Given the description of an element on the screen output the (x, y) to click on. 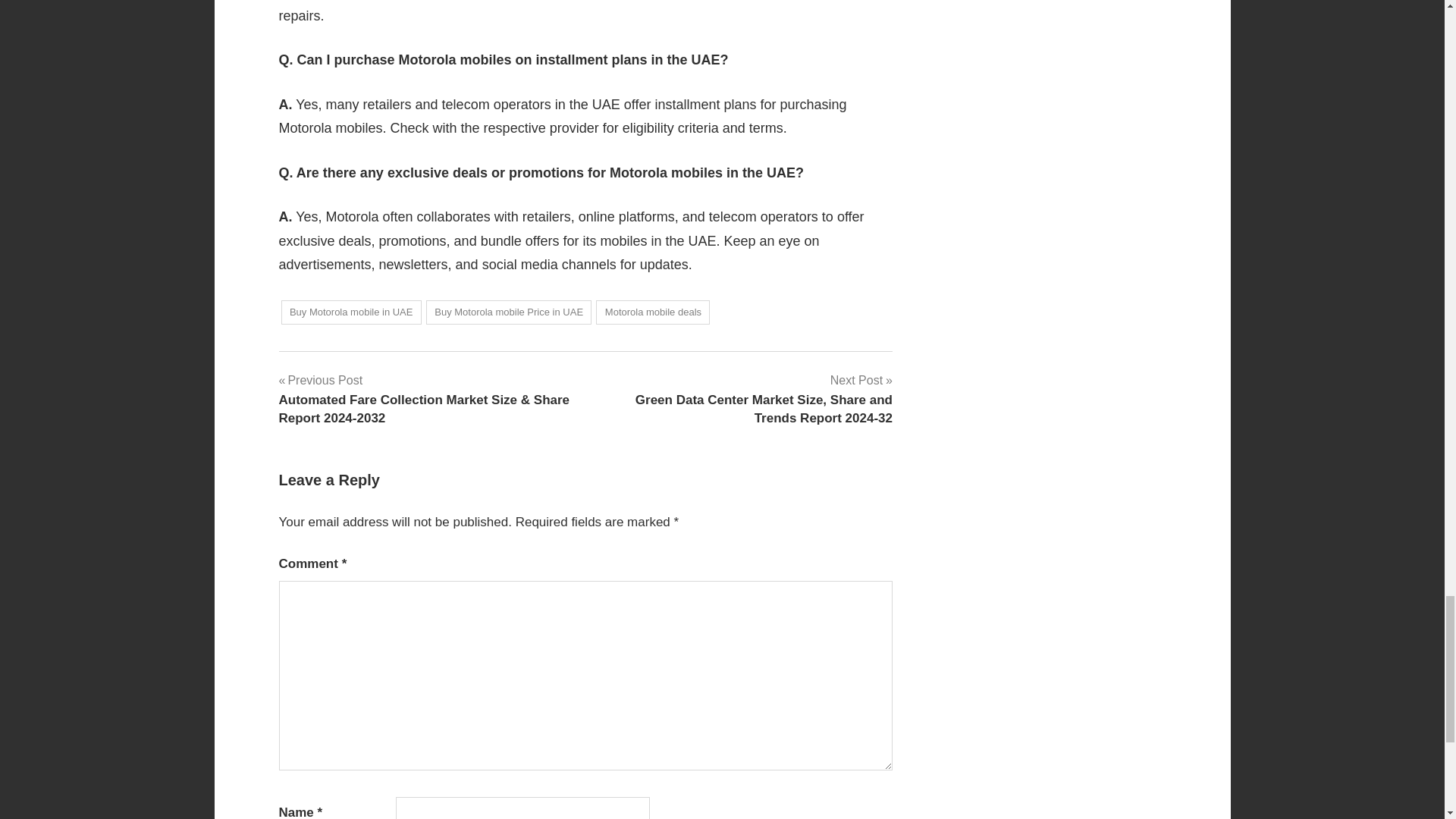
Motorola mobile deals (652, 312)
Buy Motorola mobile Price in UAE (509, 312)
Buy Motorola mobile in UAE (350, 312)
